Given the description of an element on the screen output the (x, y) to click on. 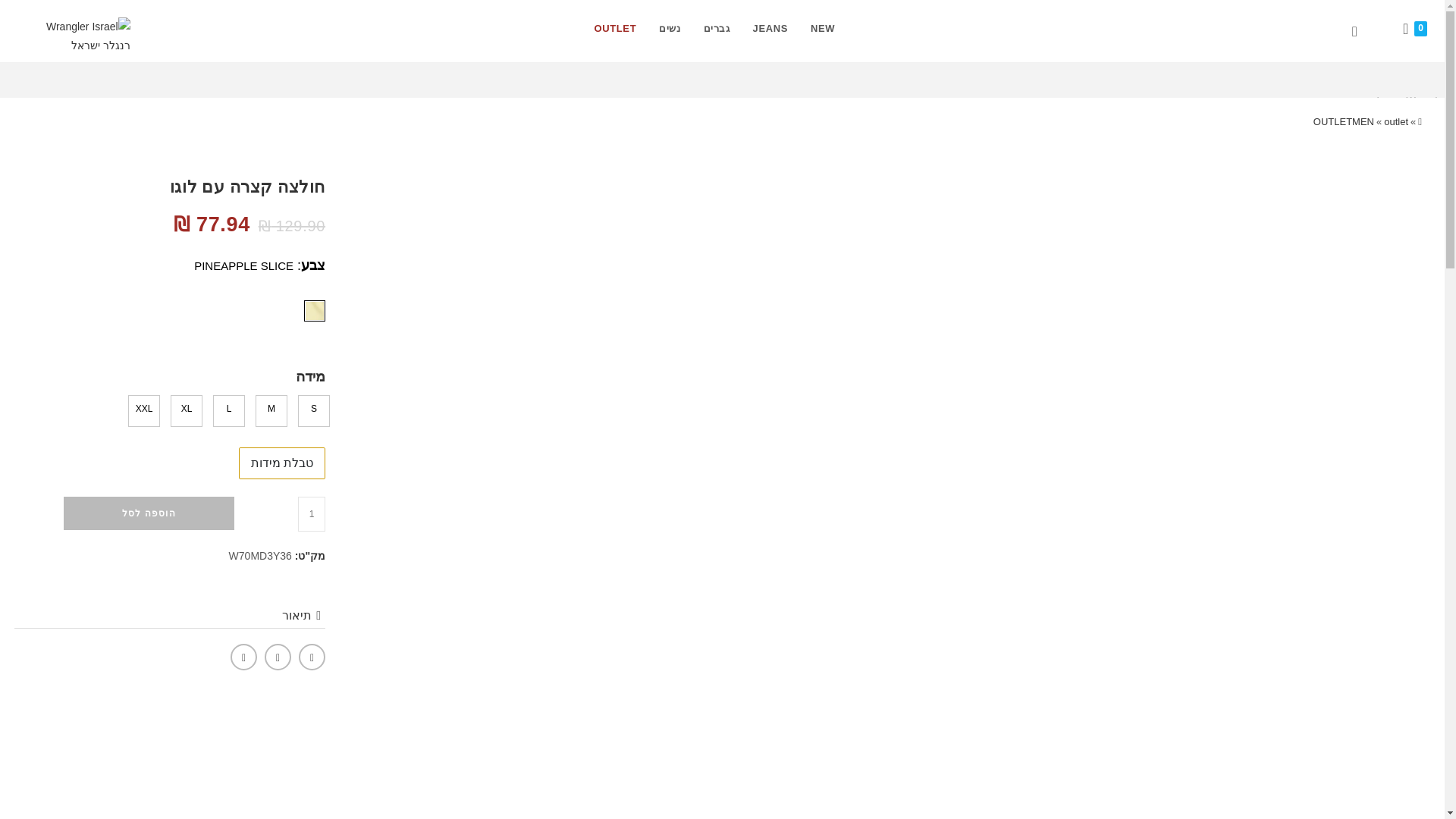
1 (311, 513)
Whatsapp (311, 656)
JEANS (770, 28)
NEW (822, 28)
Facebook (277, 656)
